Given the description of an element on the screen output the (x, y) to click on. 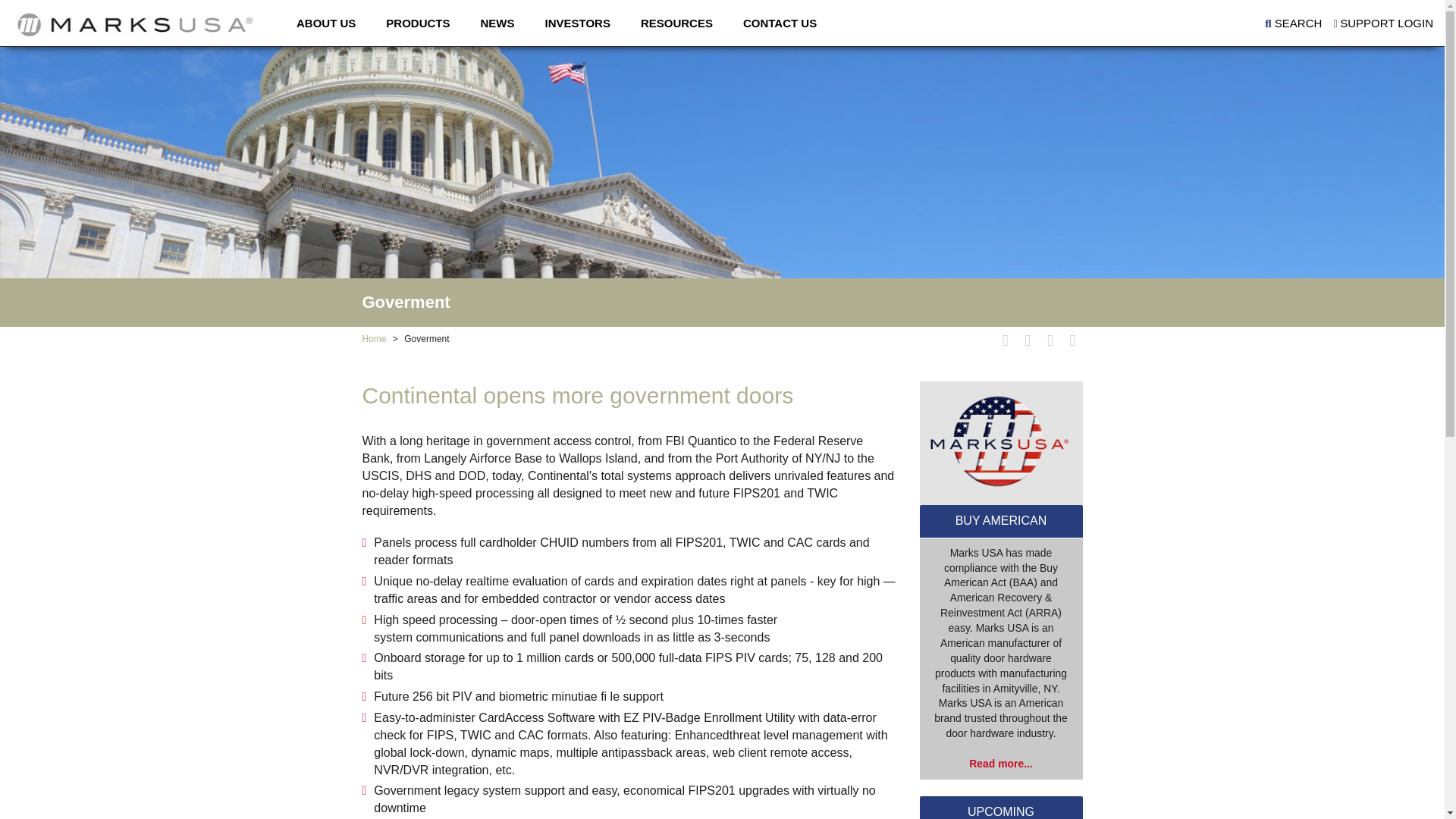
CONTACT US (779, 22)
SEARCH (1293, 22)
SUPPORT LOGIN (1382, 22)
INVESTORS (577, 22)
ABOUT US (326, 22)
NEWS (497, 22)
RESOURCES (677, 22)
PRODUCTS (417, 22)
